Given the description of an element on the screen output the (x, y) to click on. 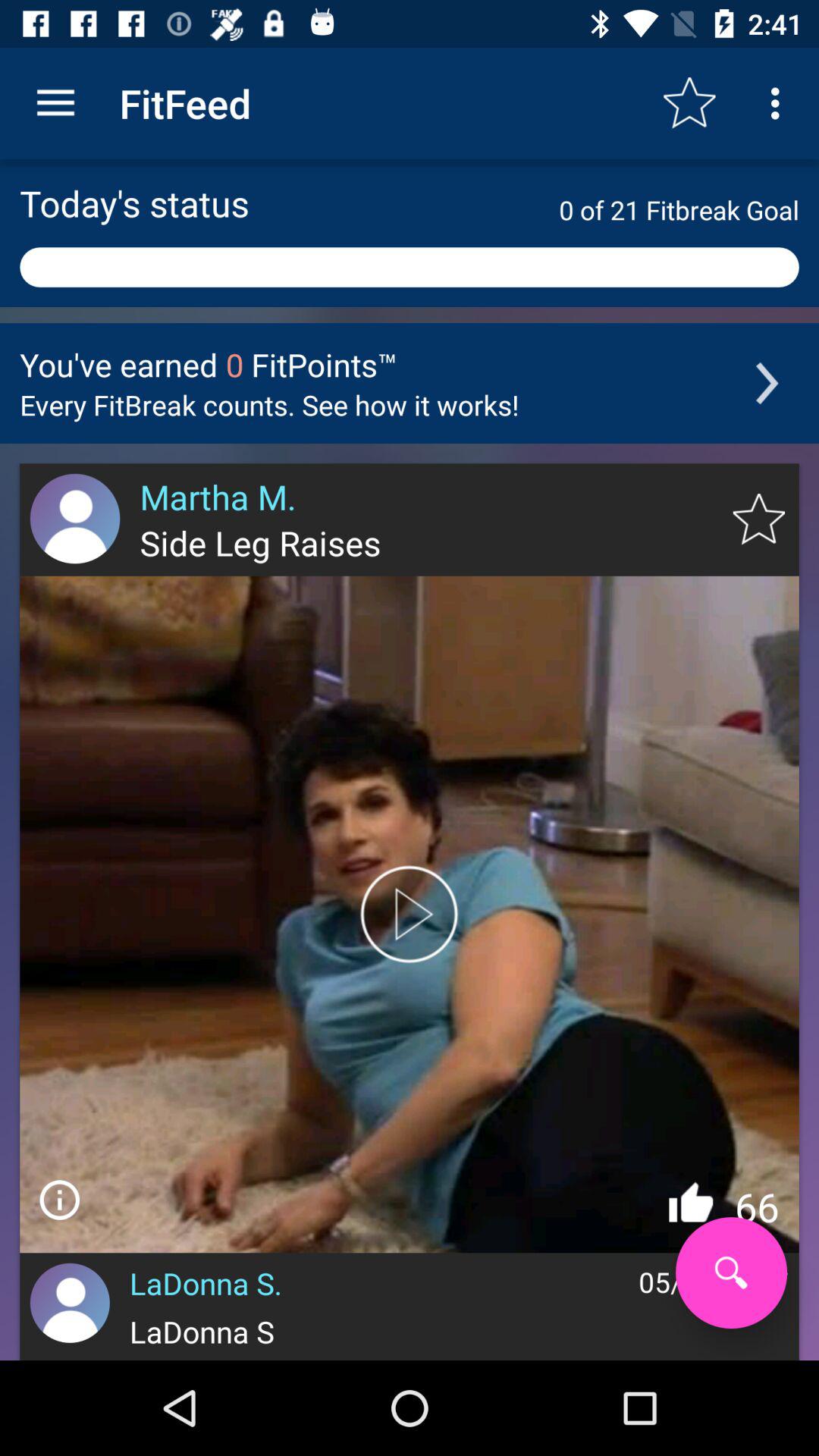
commend (59, 1199)
